Given the description of an element on the screen output the (x, y) to click on. 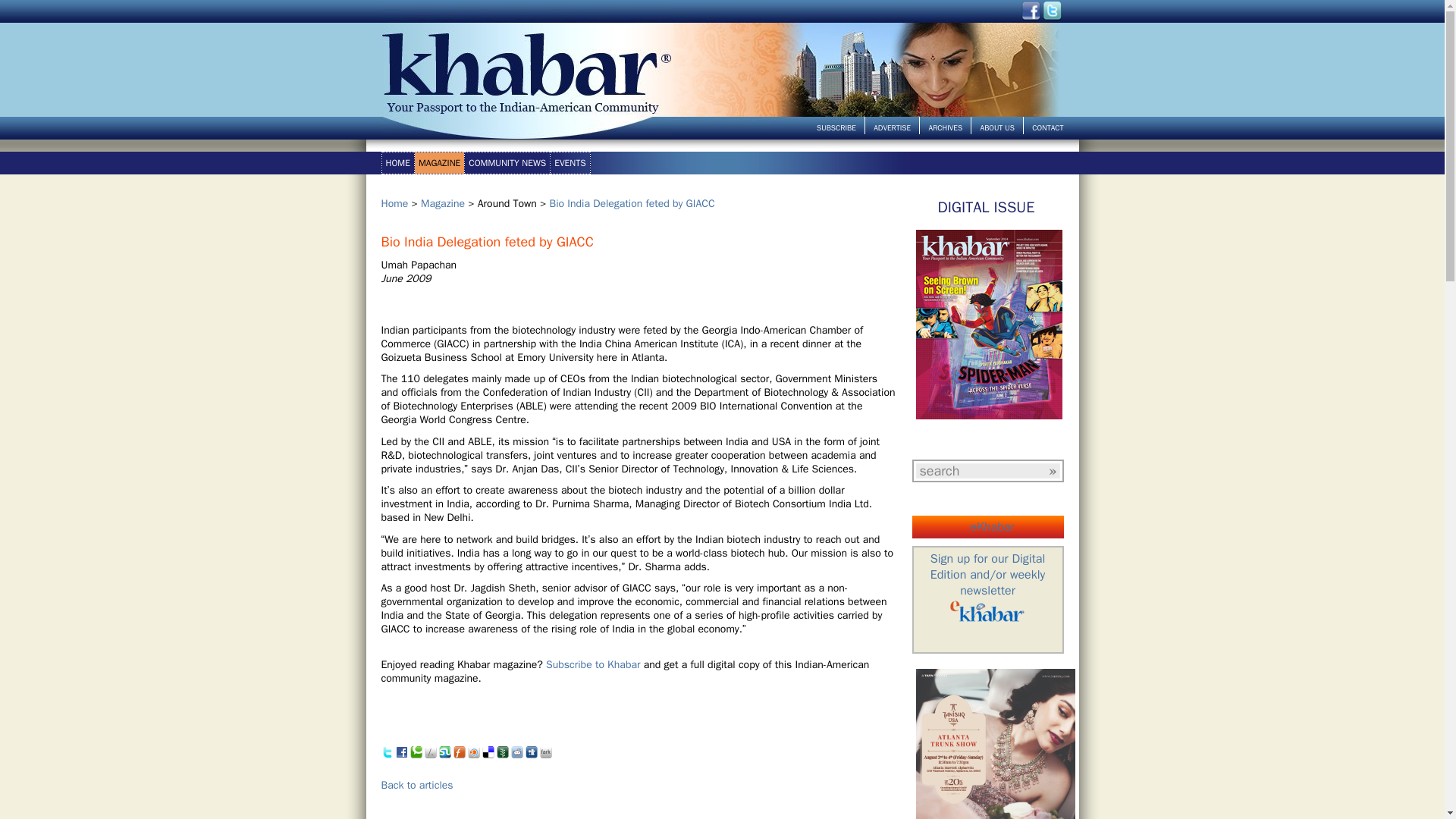
Slashdot (430, 756)
EVENTS (569, 162)
Newsvine (502, 756)
ABOUT US (996, 128)
ADVERTISE (892, 128)
Twitter (386, 756)
Stumbleupon (443, 756)
COMMUNITY NEWS (507, 162)
Blinklist (473, 756)
CONTACT (1047, 128)
